Given the description of an element on the screen output the (x, y) to click on. 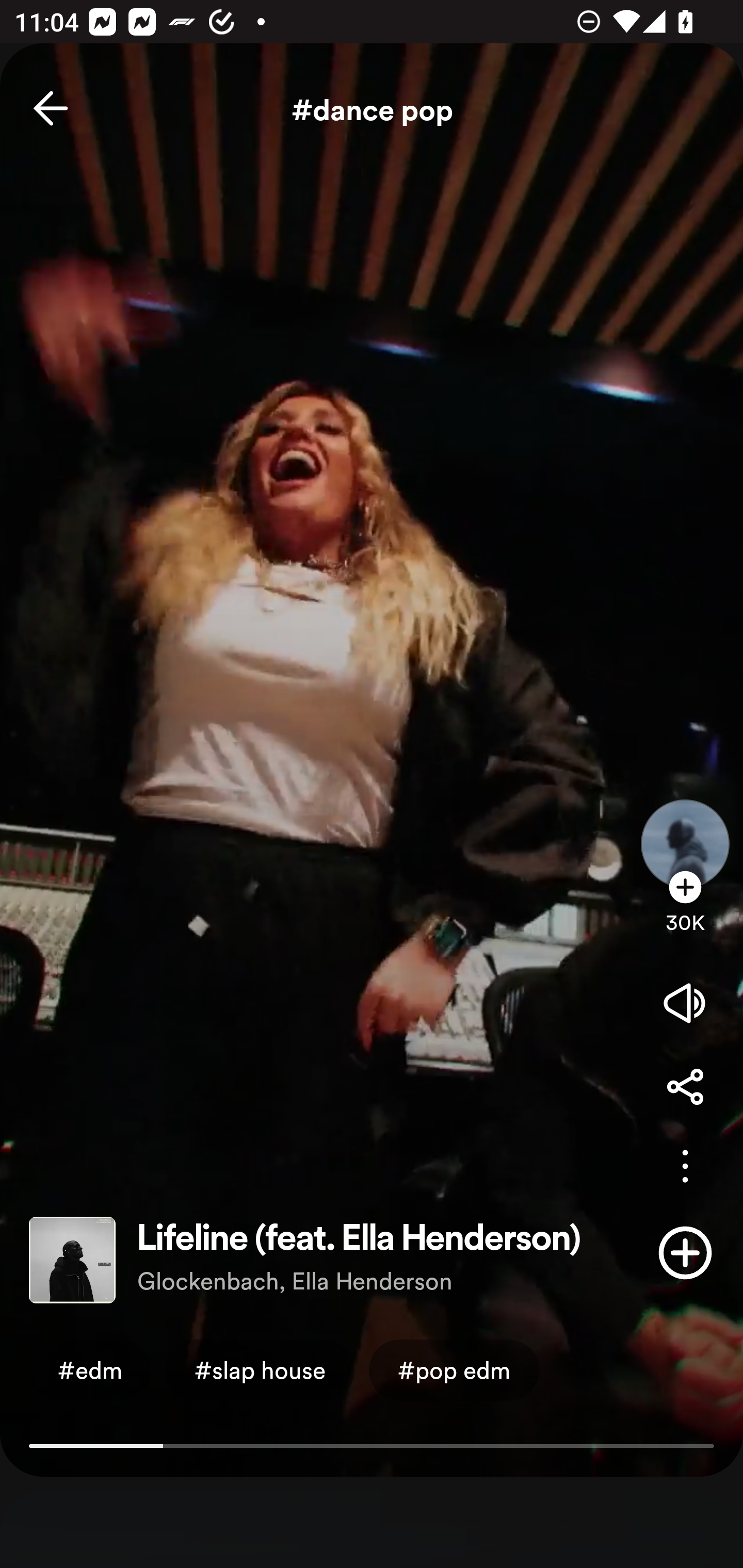
Back (50, 108)
Navigate to Glockenbach artist page (685, 826)
30000 followers. Follow Glockenbach (685, 912)
Mute (685, 1002)
Share (685, 1086)
More options for song  (685, 1166)
Add item (684, 1252)
#edm (89, 1369)
#slap house (259, 1369)
#pop edm (454, 1369)
